Given the description of an element on the screen output the (x, y) to click on. 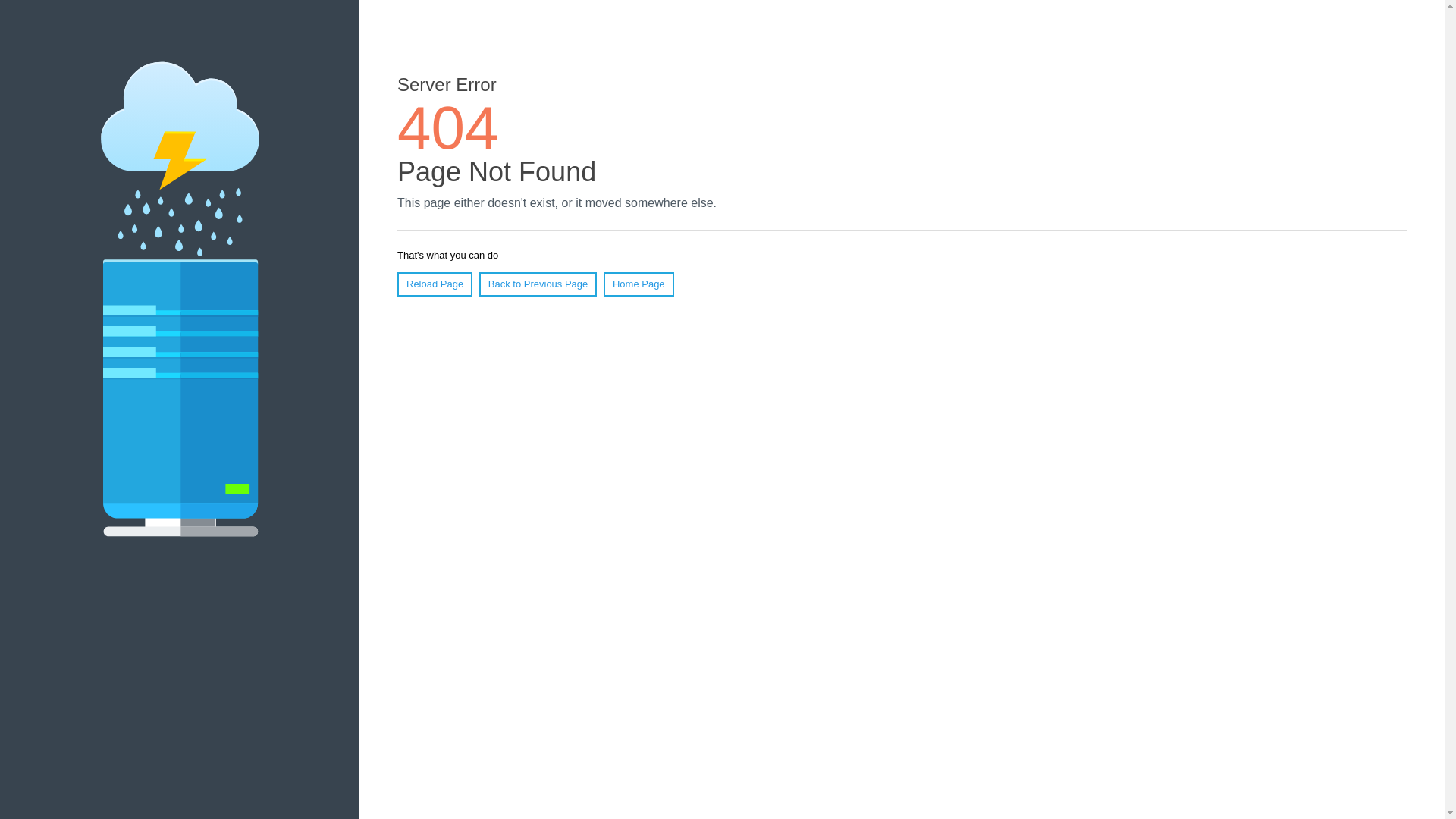
Back to Previous Page Element type: text (538, 284)
Home Page Element type: text (638, 284)
Reload Page Element type: text (434, 284)
